Given the description of an element on the screen output the (x, y) to click on. 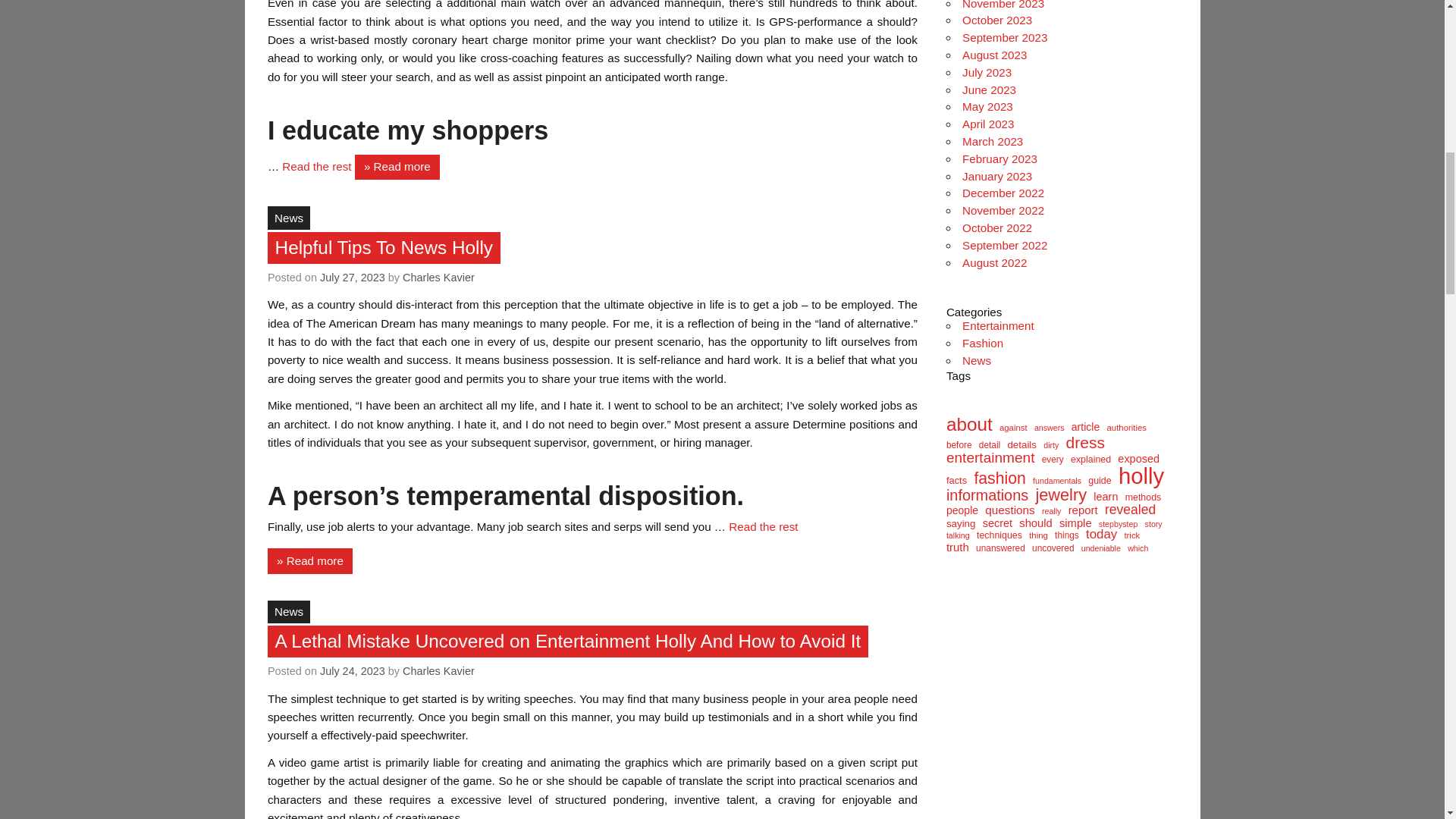
Read the rest (763, 526)
July 27, 2023 (352, 277)
Charles Kavier (438, 277)
News (288, 217)
Read the rest (317, 165)
News (288, 611)
1:16 pm (352, 671)
July 24, 2023 (352, 671)
View all posts by Charles Kavier (438, 277)
Charles Kavier (438, 671)
Helpful Tips To News Holly (384, 247)
View all posts by Charles Kavier (438, 671)
6:30 pm (352, 277)
